Given the description of an element on the screen output the (x, y) to click on. 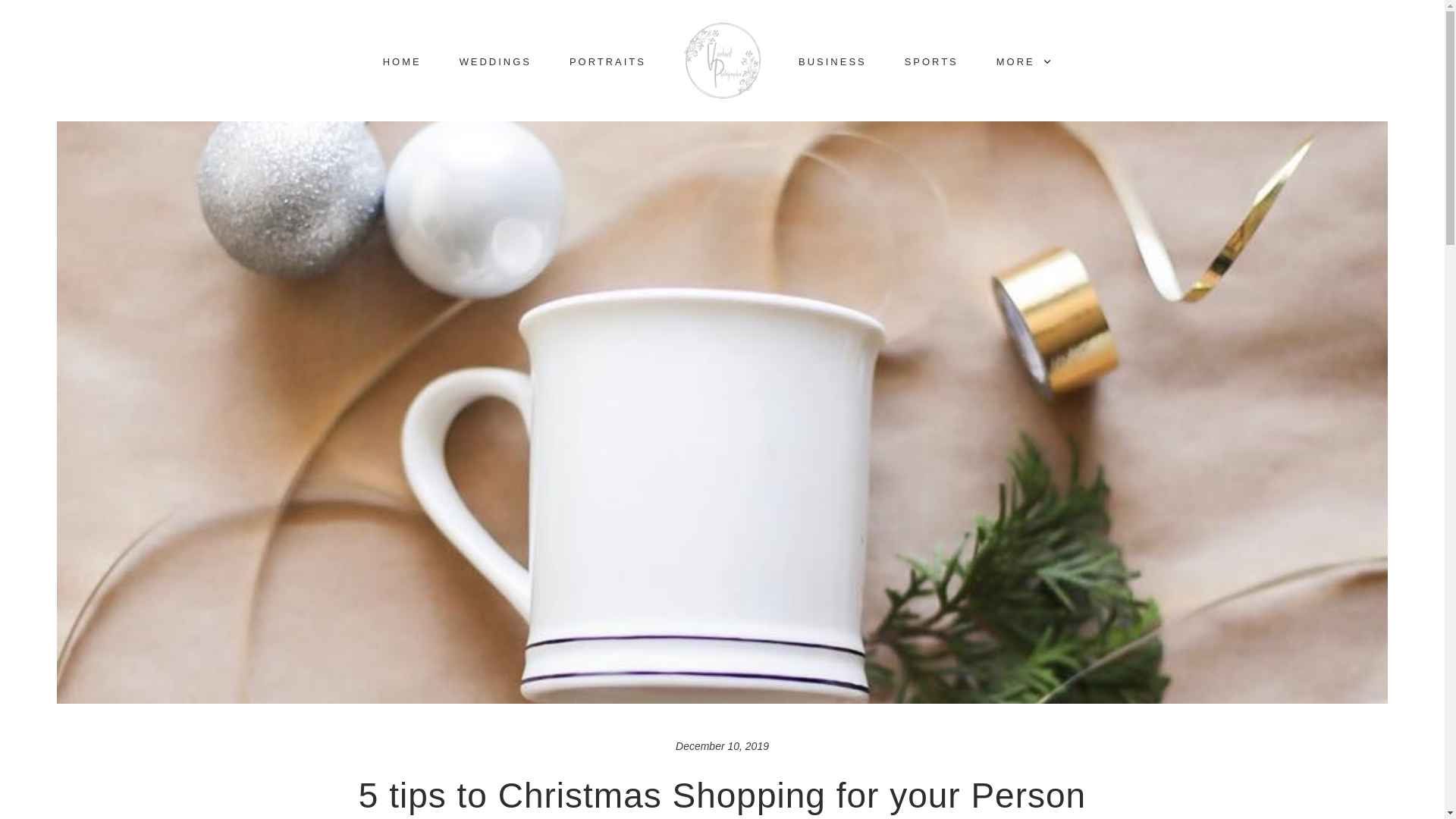
HOME (402, 61)
PORTRAITS (607, 61)
WEDDINGS (495, 61)
SPORTS (930, 61)
BUSINESS (831, 61)
MORE (1023, 61)
